Given the description of an element on the screen output the (x, y) to click on. 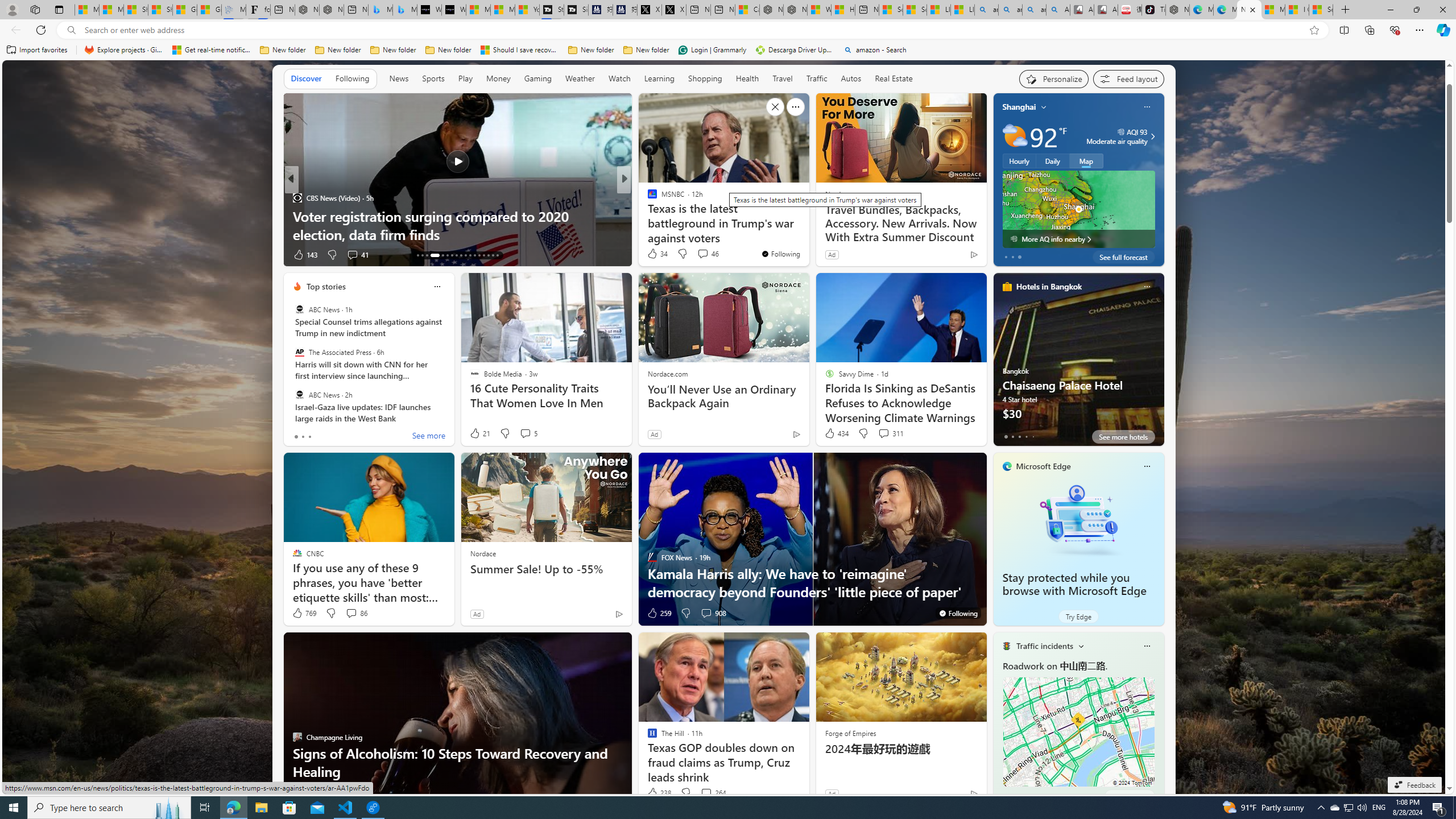
Nordace - Best Sellers (1176, 9)
Descarga Driver Updater (794, 49)
CNN (647, 197)
ABC News (299, 394)
AutomationID: tab-40 (488, 255)
The Weather Channel (647, 197)
Amazon Echo Robot - Search Images (1057, 9)
Health (746, 78)
Stay protected while you browse with Microsoft Edge (1074, 584)
AutomationID: tab-23 (470, 255)
769 Like (303, 612)
AutomationID: tab-16 (431, 255)
